Given the description of an element on the screen output the (x, y) to click on. 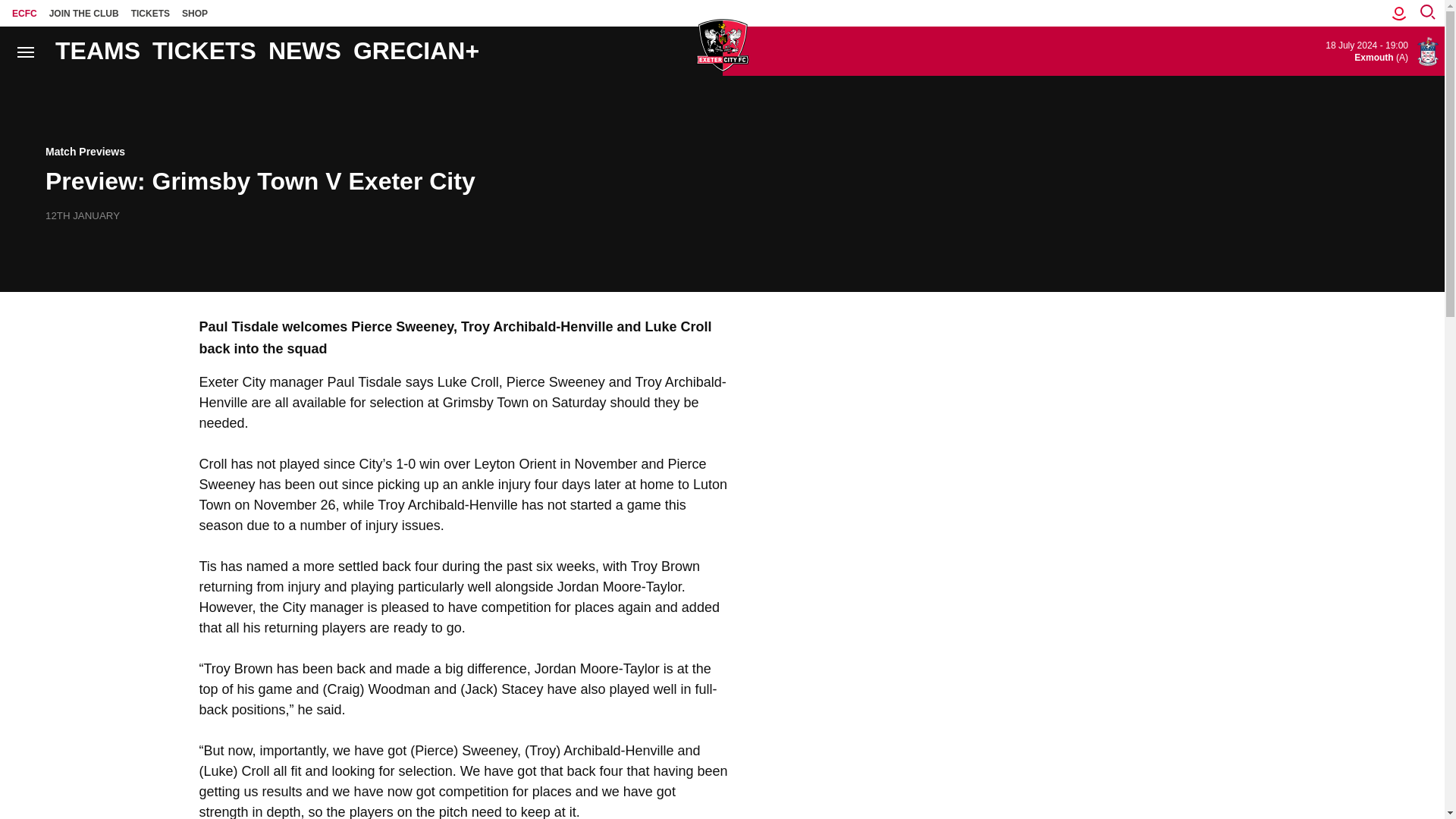
SHOP (195, 13)
ECFC (24, 13)
Search (29, 52)
TICKETS (150, 13)
JOIN THE CLUB (84, 13)
